Given the description of an element on the screen output the (x, y) to click on. 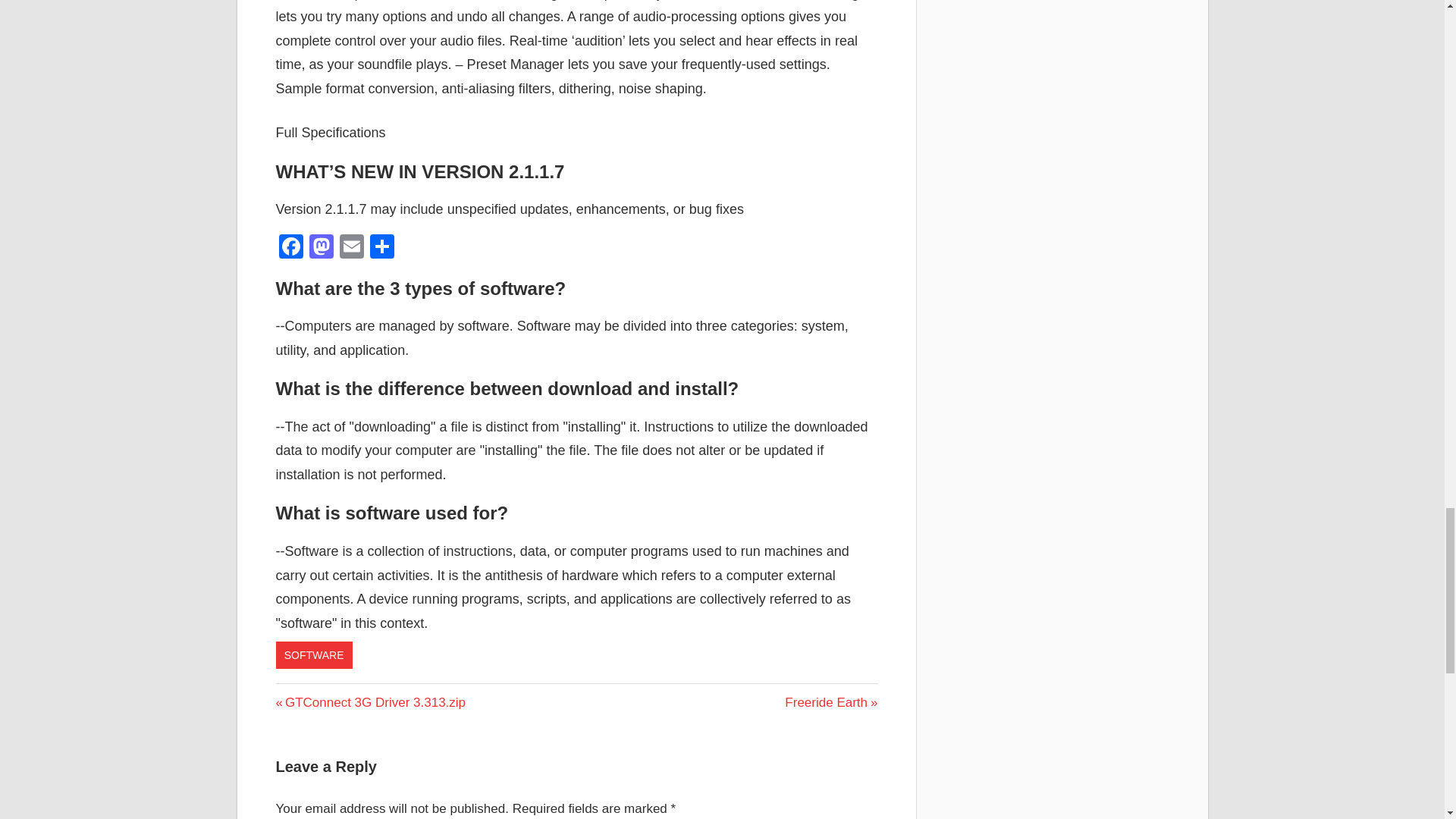
Mastodon (320, 248)
Facebook (830, 702)
Email (290, 248)
Facebook (351, 248)
Mastodon (290, 248)
SOFTWARE (320, 248)
Email (314, 655)
